Given the description of an element on the screen output the (x, y) to click on. 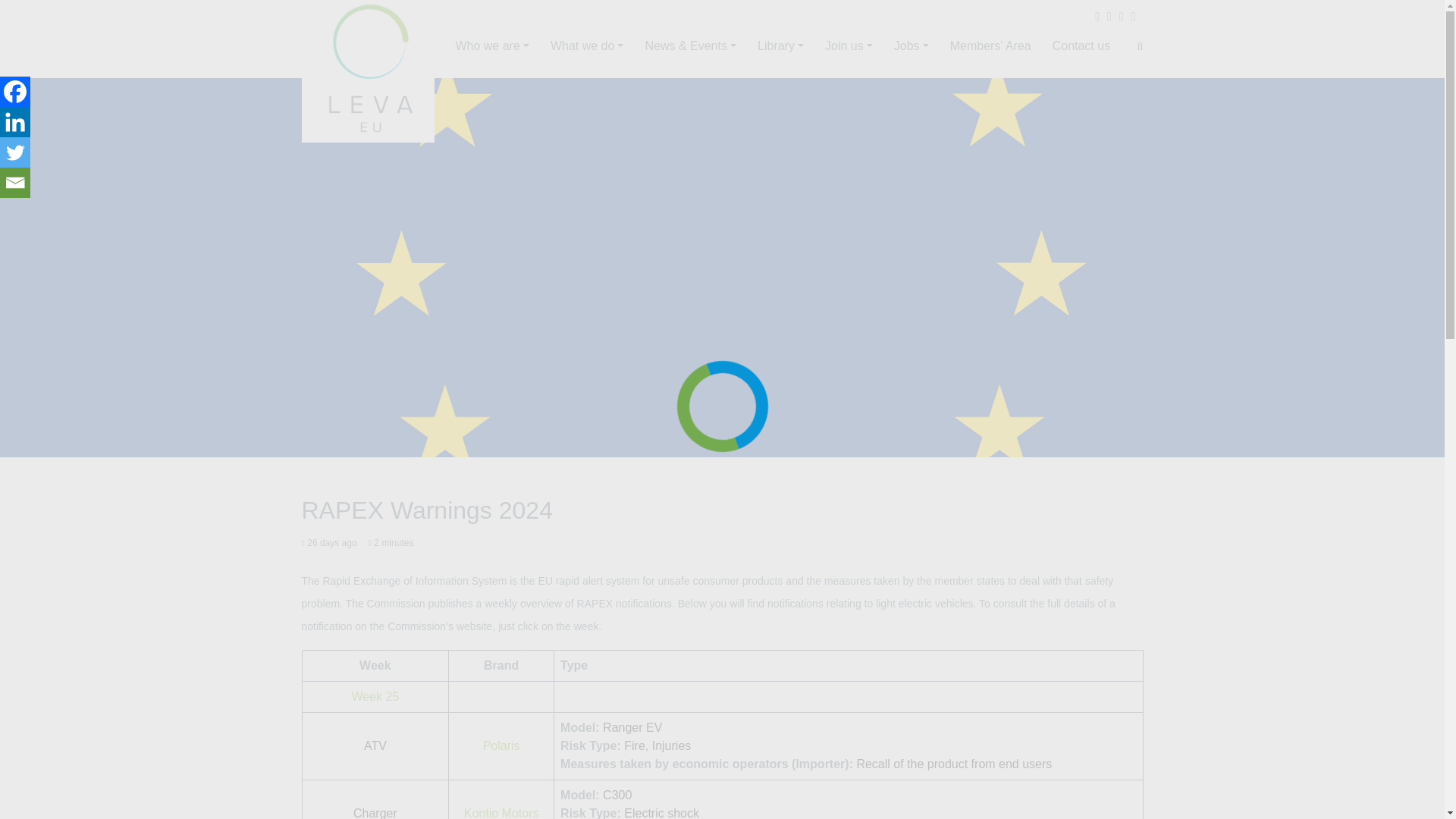
Join us (837, 45)
Linkedin (15, 122)
Library (769, 45)
Email (15, 182)
Facebook (15, 91)
Twitter (15, 152)
What we do (576, 45)
Who we are (480, 45)
